Given the description of an element on the screen output the (x, y) to click on. 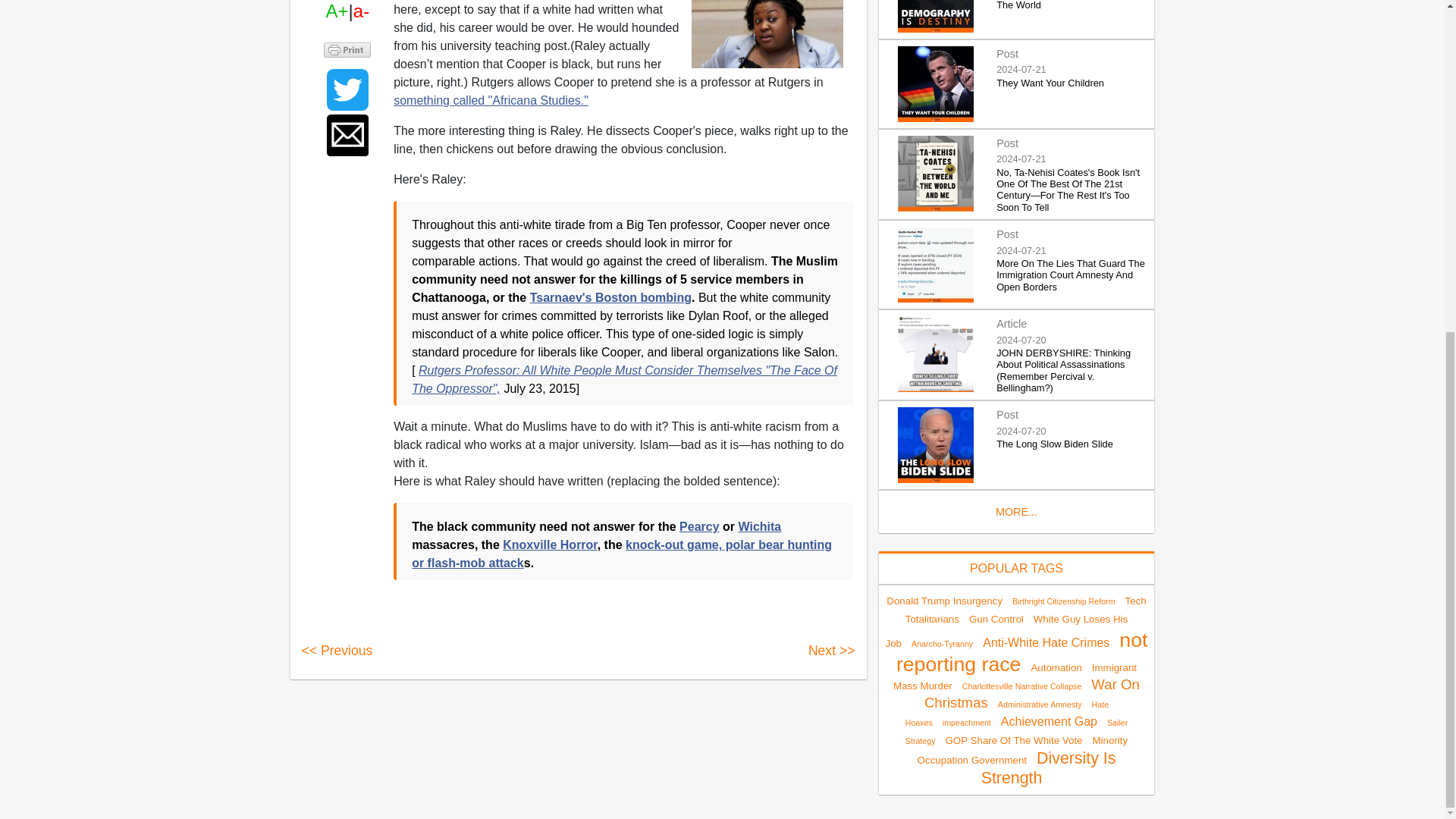
Share to Email (347, 135)
Share to Twitter (347, 89)
Printer Friendly and PDF (347, 48)
